Given the description of an element on the screen output the (x, y) to click on. 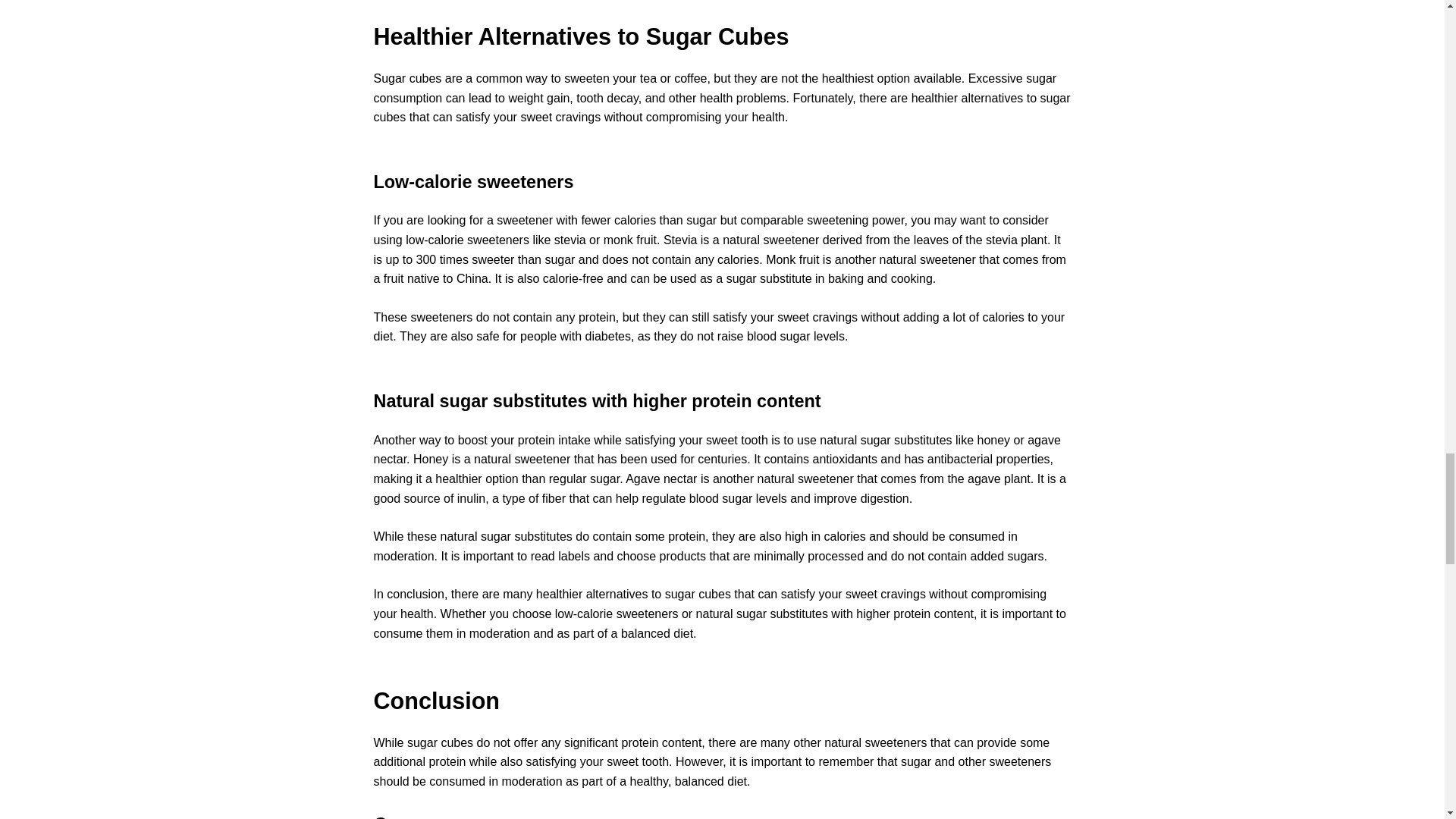
Share on Facebook (401, 816)
twitter (474, 816)
Tweet on Twitter (401, 816)
